Given the description of an element on the screen output the (x, y) to click on. 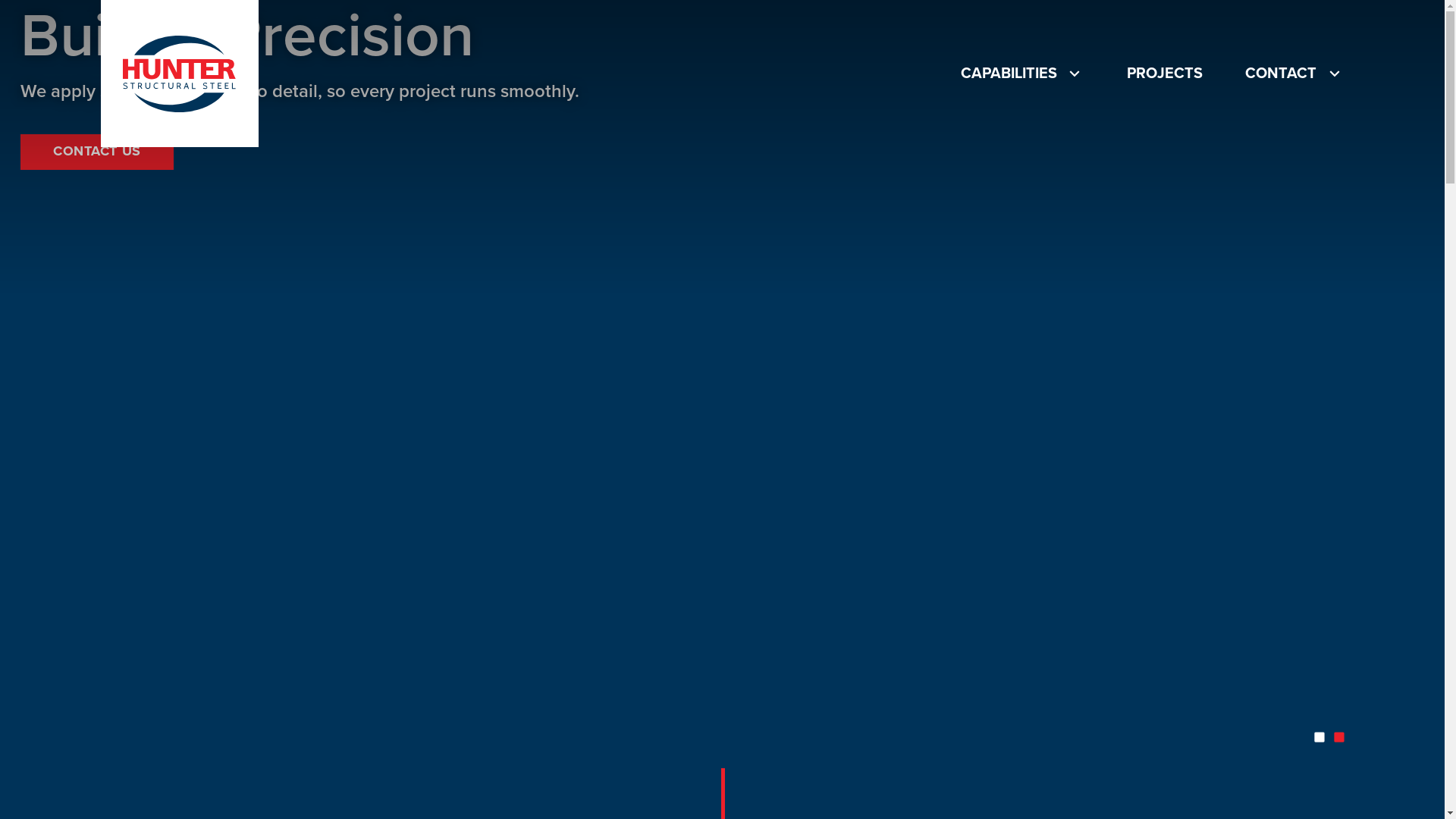
CONTACT US Element type: text (96, 151)
PROJECTS Element type: text (1164, 73)
CAPABILITIES Element type: text (1022, 73)
CONTACT Element type: text (1294, 73)
